Given the description of an element on the screen output the (x, y) to click on. 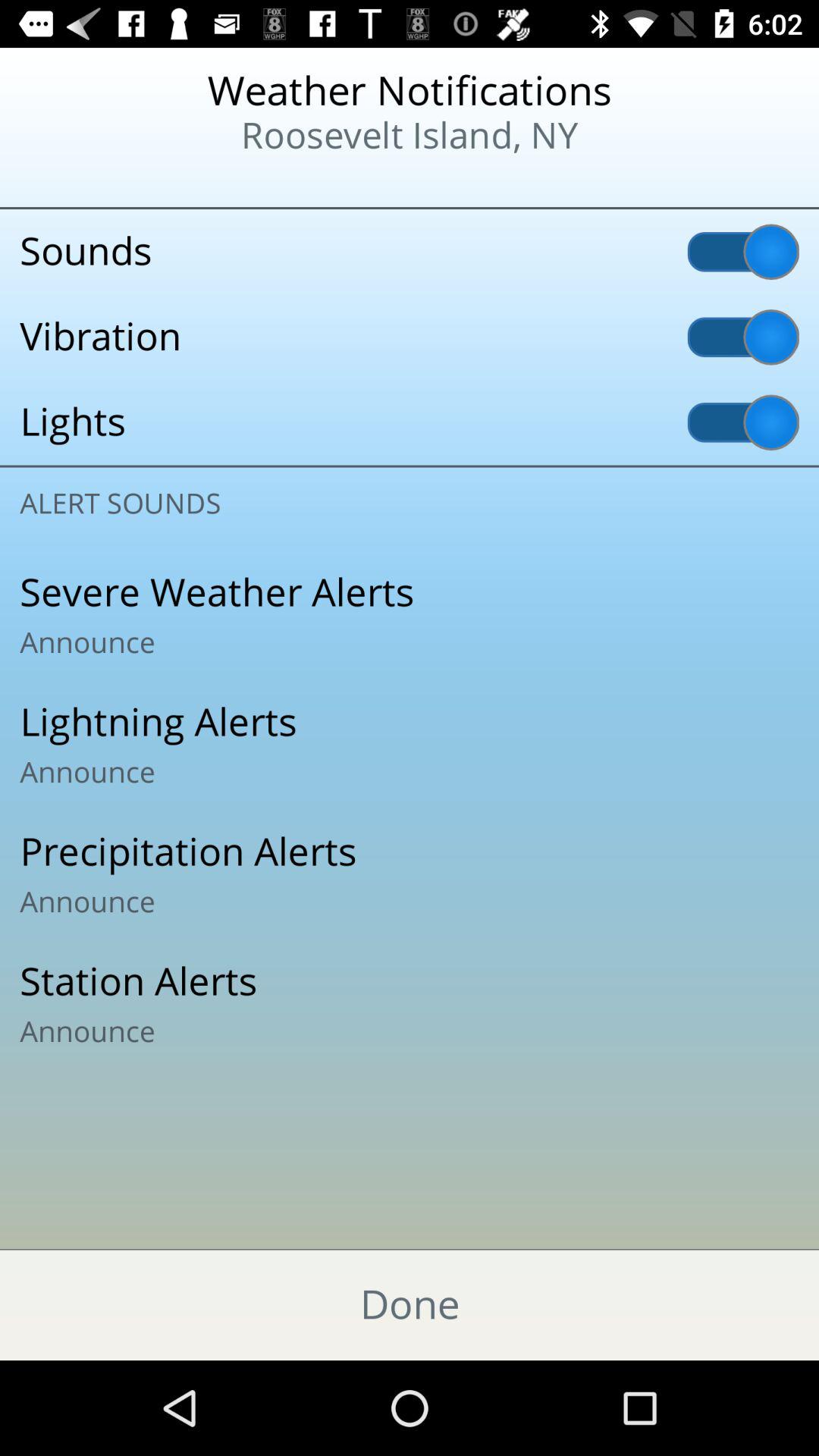
launch the item next to the roosevelt island, ny icon (99, 182)
